Given the description of an element on the screen output the (x, y) to click on. 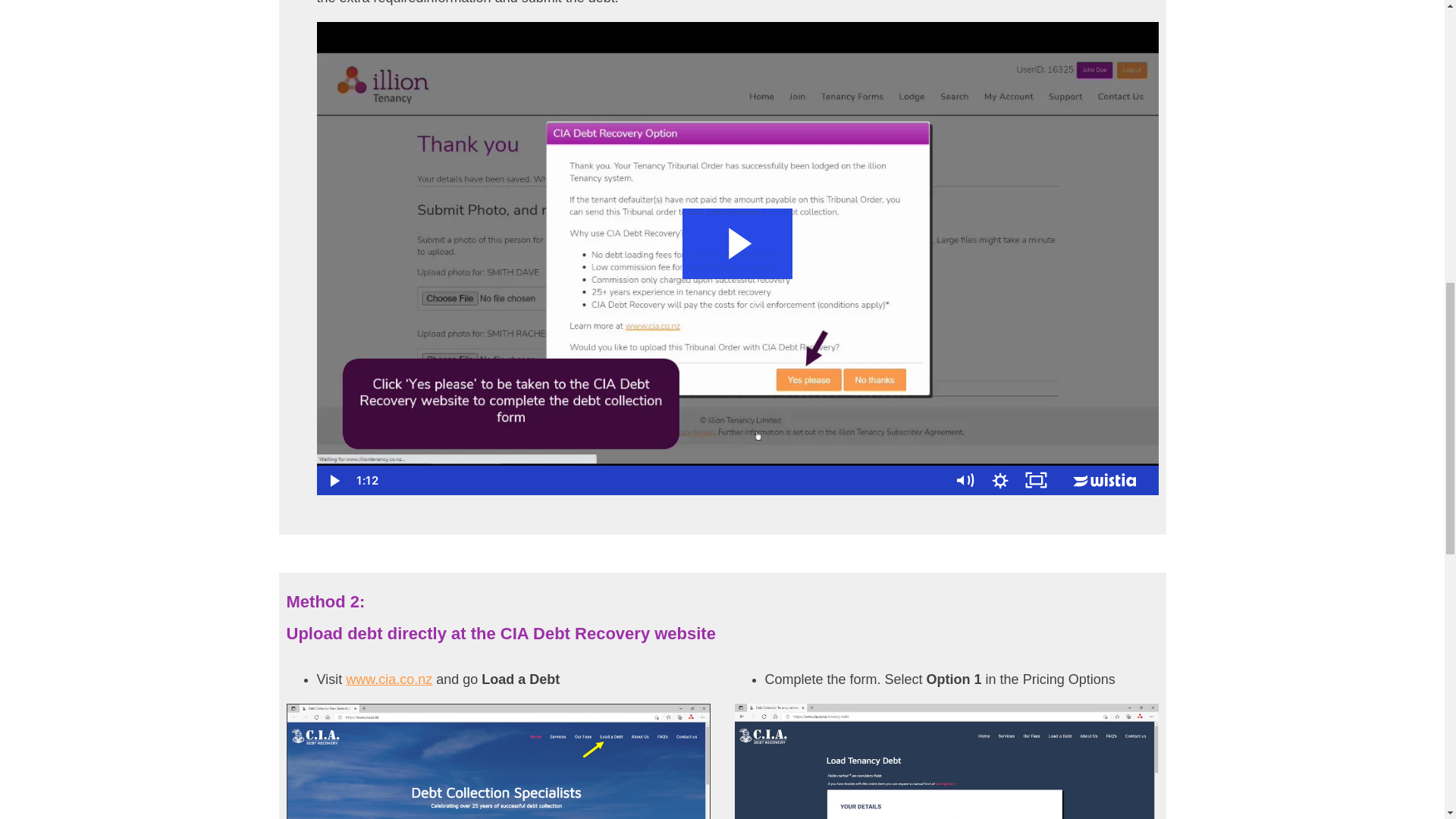
Show settings menu (999, 480)
Wistia Logo -- Learn More (1105, 480)
www.cia.co.nz (389, 679)
